Given the description of an element on the screen output the (x, y) to click on. 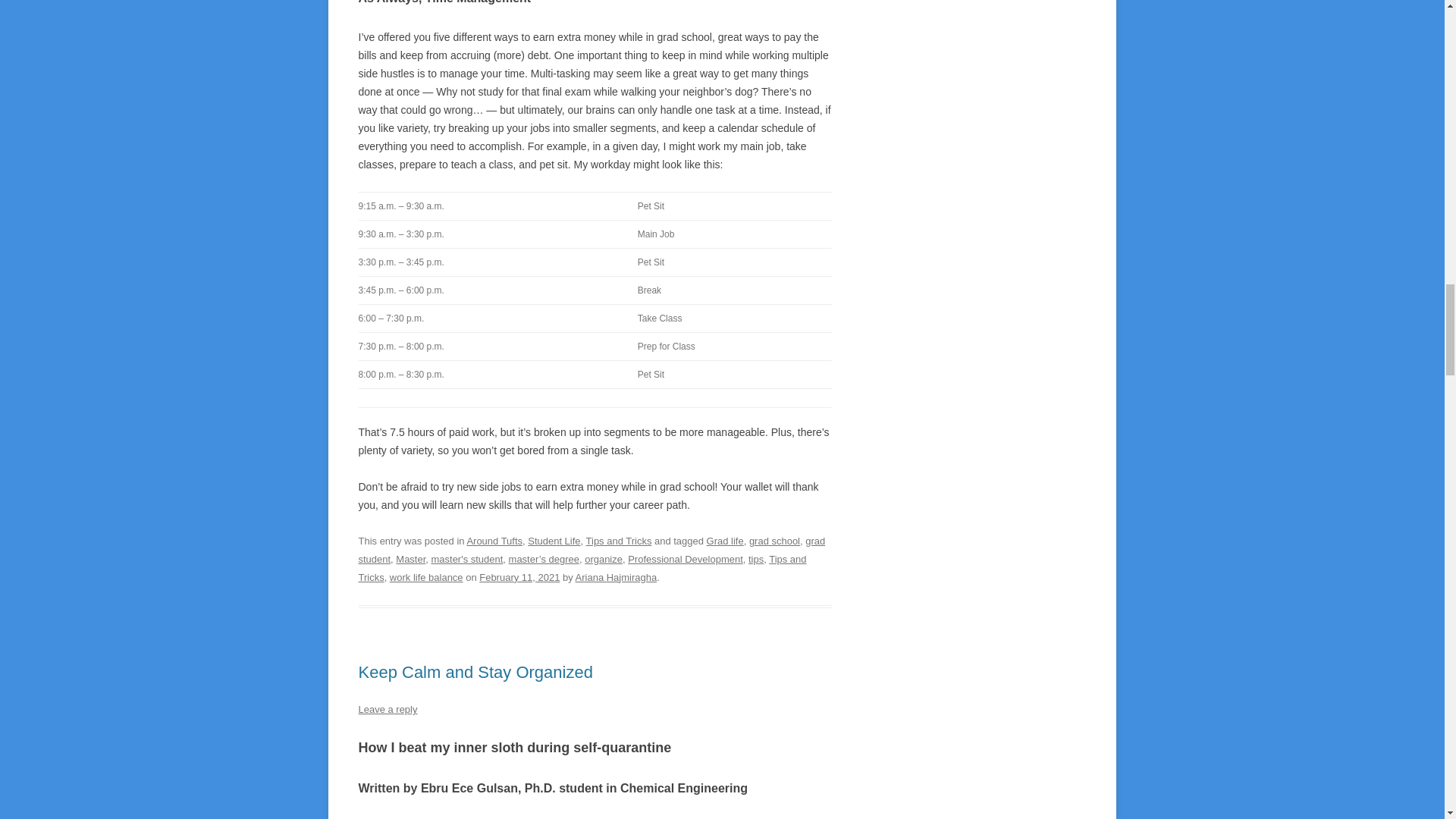
tips (755, 559)
Keep Calm and Stay Organized (475, 671)
Tips and Tricks (582, 568)
Grad life (725, 541)
master's student (466, 559)
Tips and Tricks (619, 541)
Leave a reply (387, 708)
grad student (591, 550)
Student Life (553, 541)
View all posts by Ariana Hajmiragha (616, 577)
1:27 pm (519, 577)
organize (604, 559)
February 11, 2021 (519, 577)
grad school (774, 541)
Ariana Hajmiragha (616, 577)
